Given the description of an element on the screen output the (x, y) to click on. 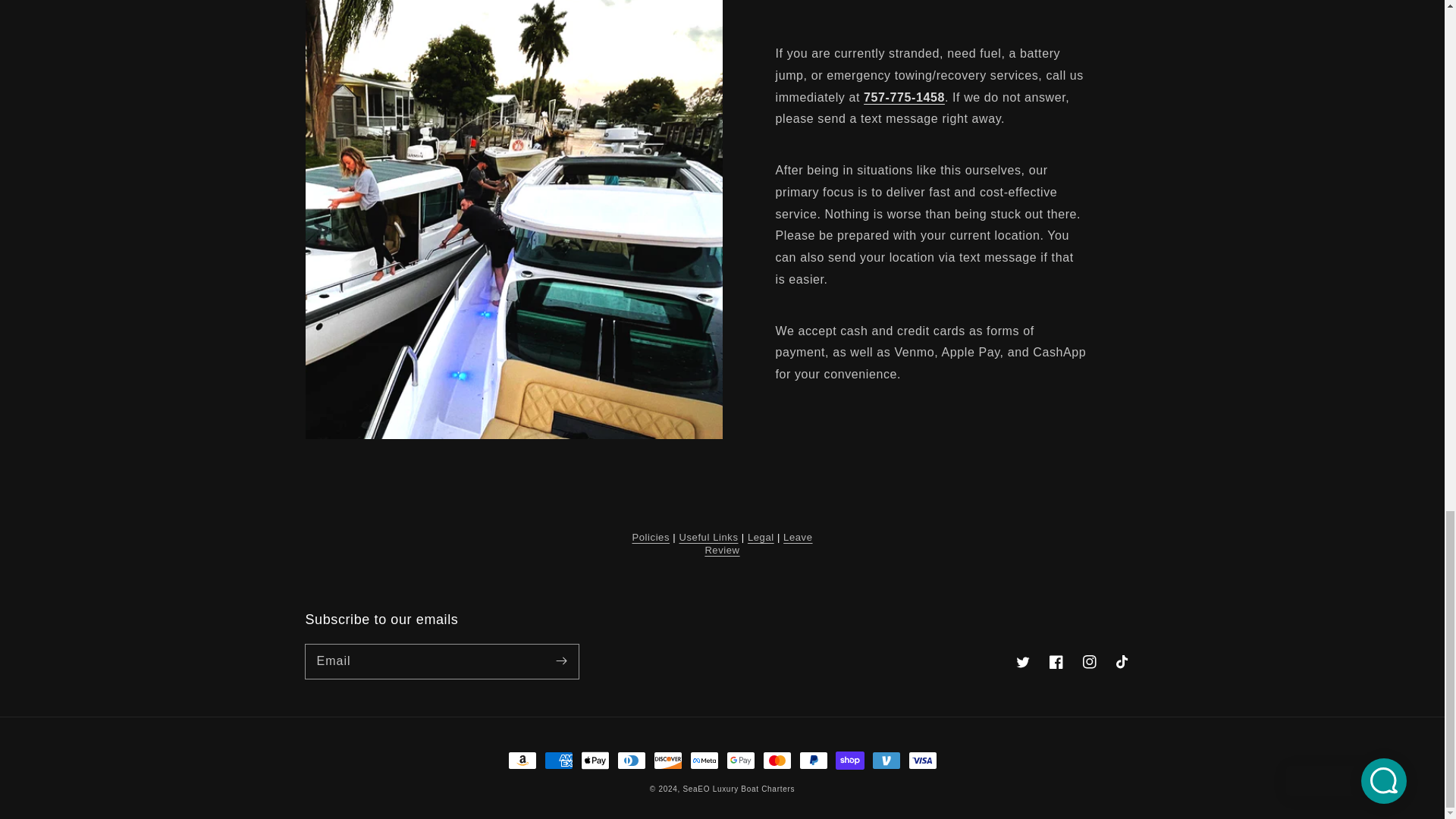
Policies (650, 536)
757-775-1458 (903, 97)
Terms of Service (761, 536)
Policies (650, 536)
